Given the description of an element on the screen output the (x, y) to click on. 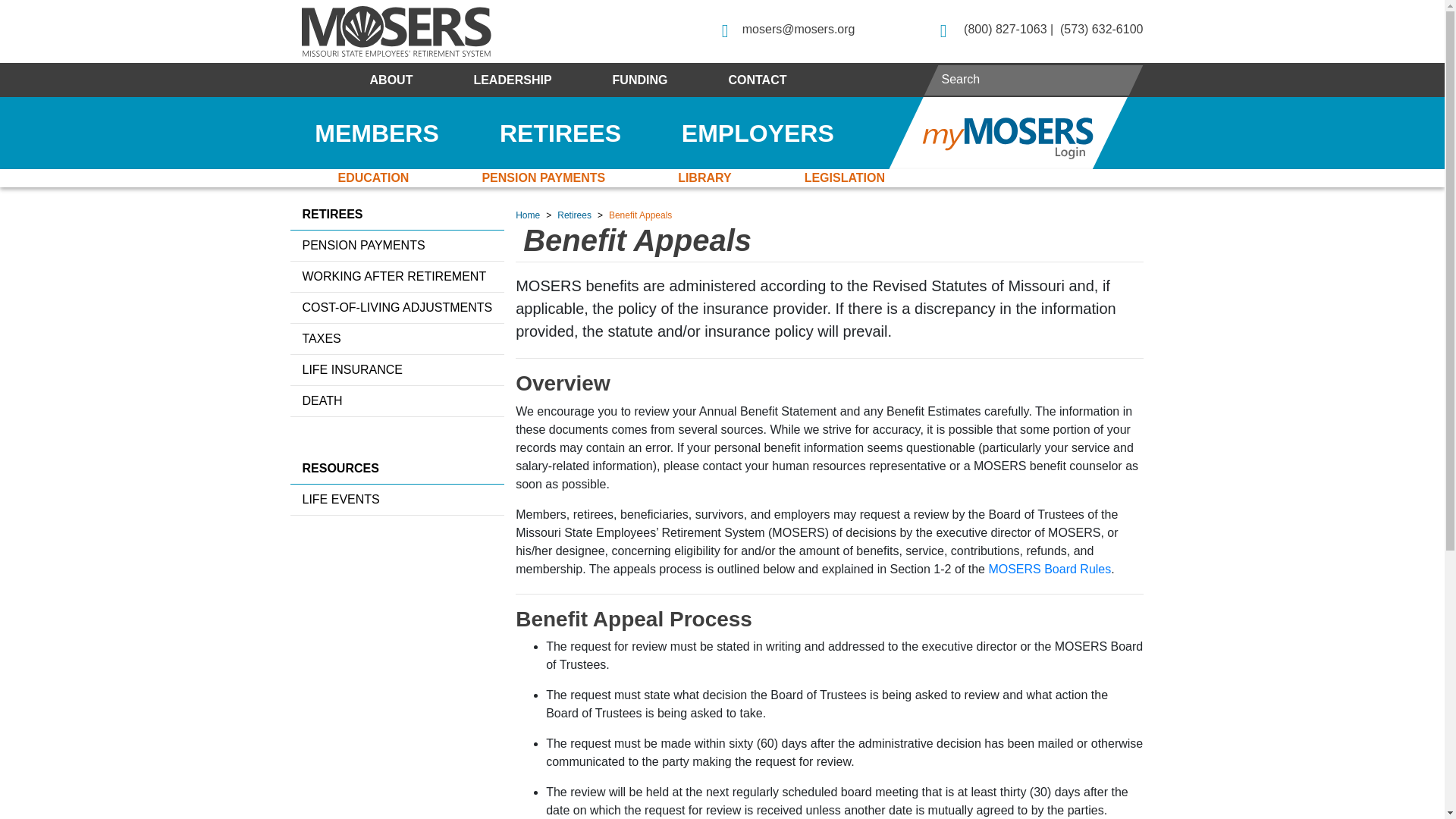
EDUCATION (373, 177)
myMOSERS Login (1007, 134)
MEMBERS (375, 133)
LEGISLATION (844, 177)
LIBRARY (705, 177)
MOSERS Home (396, 30)
CONTACT (756, 80)
PENSION PAYMENTS (543, 177)
FUNDING (640, 80)
LEADERSHIP (511, 80)
MOSERS Board Rules (1049, 568)
ABOUT (391, 80)
RETIREES (559, 133)
EMPLOYERS (757, 133)
Search input (1034, 79)
